Given the description of an element on the screen output the (x, y) to click on. 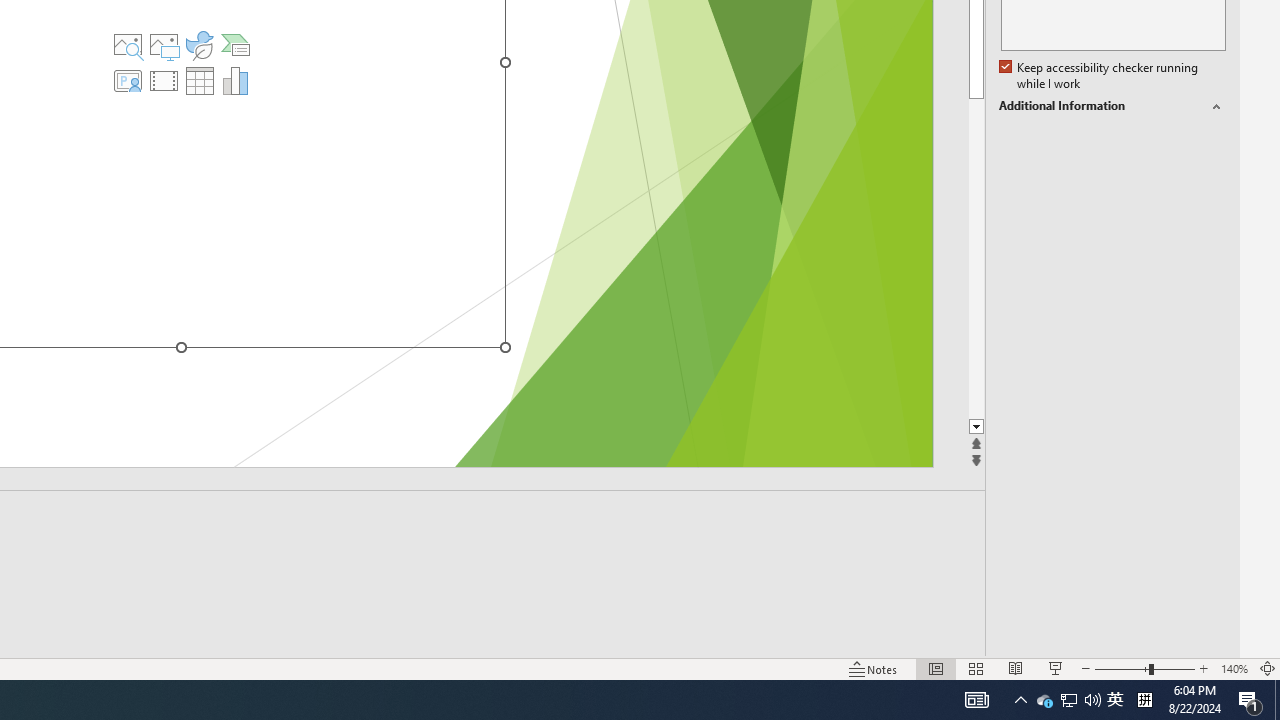
Insert Table (200, 80)
Stock Images (127, 44)
